Given the description of an element on the screen output the (x, y) to click on. 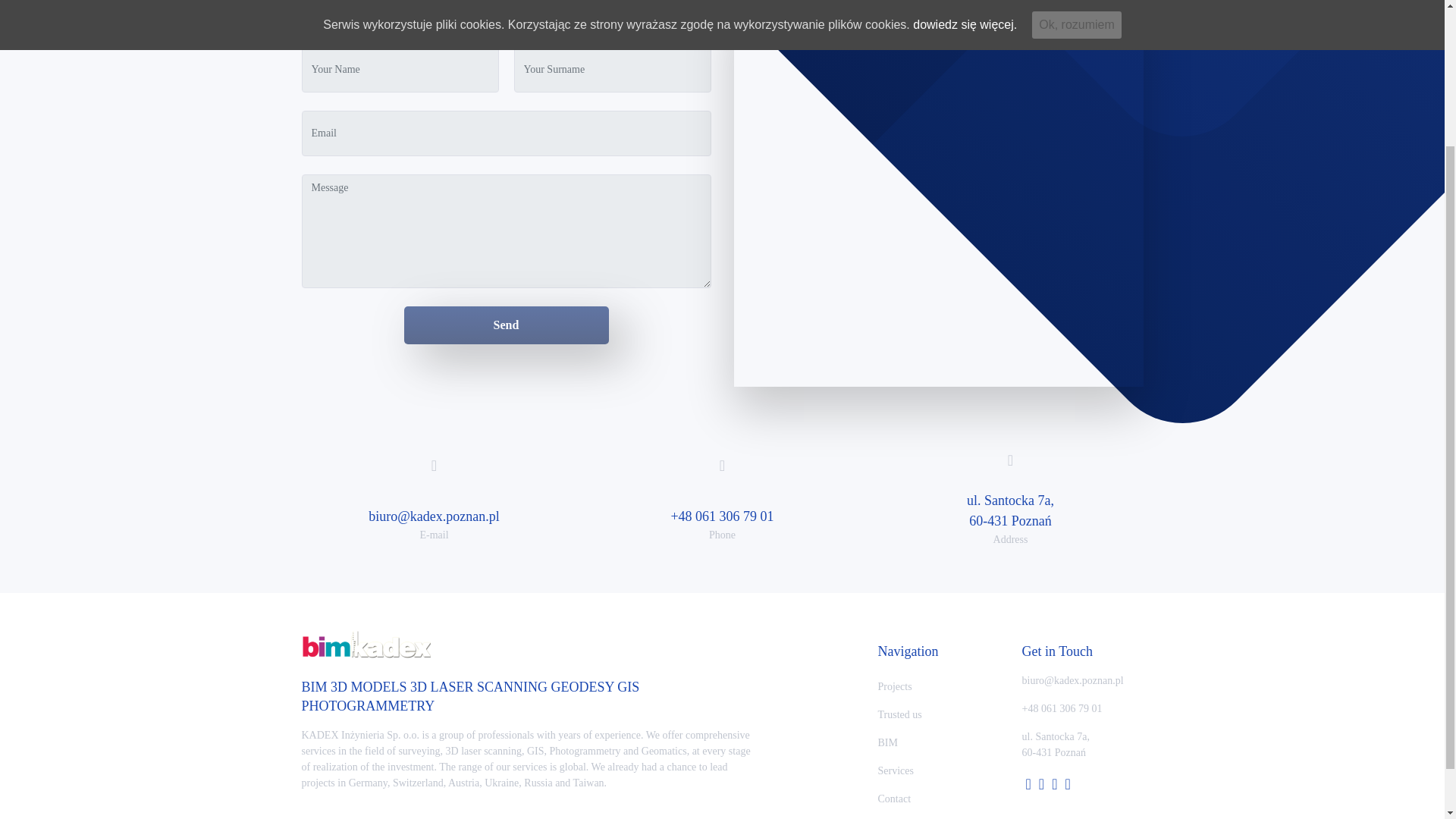
Contact (937, 798)
Projects (937, 686)
Send (505, 324)
Send (505, 324)
BIM (937, 742)
Services (937, 770)
Trusted us (937, 714)
